Given the description of an element on the screen output the (x, y) to click on. 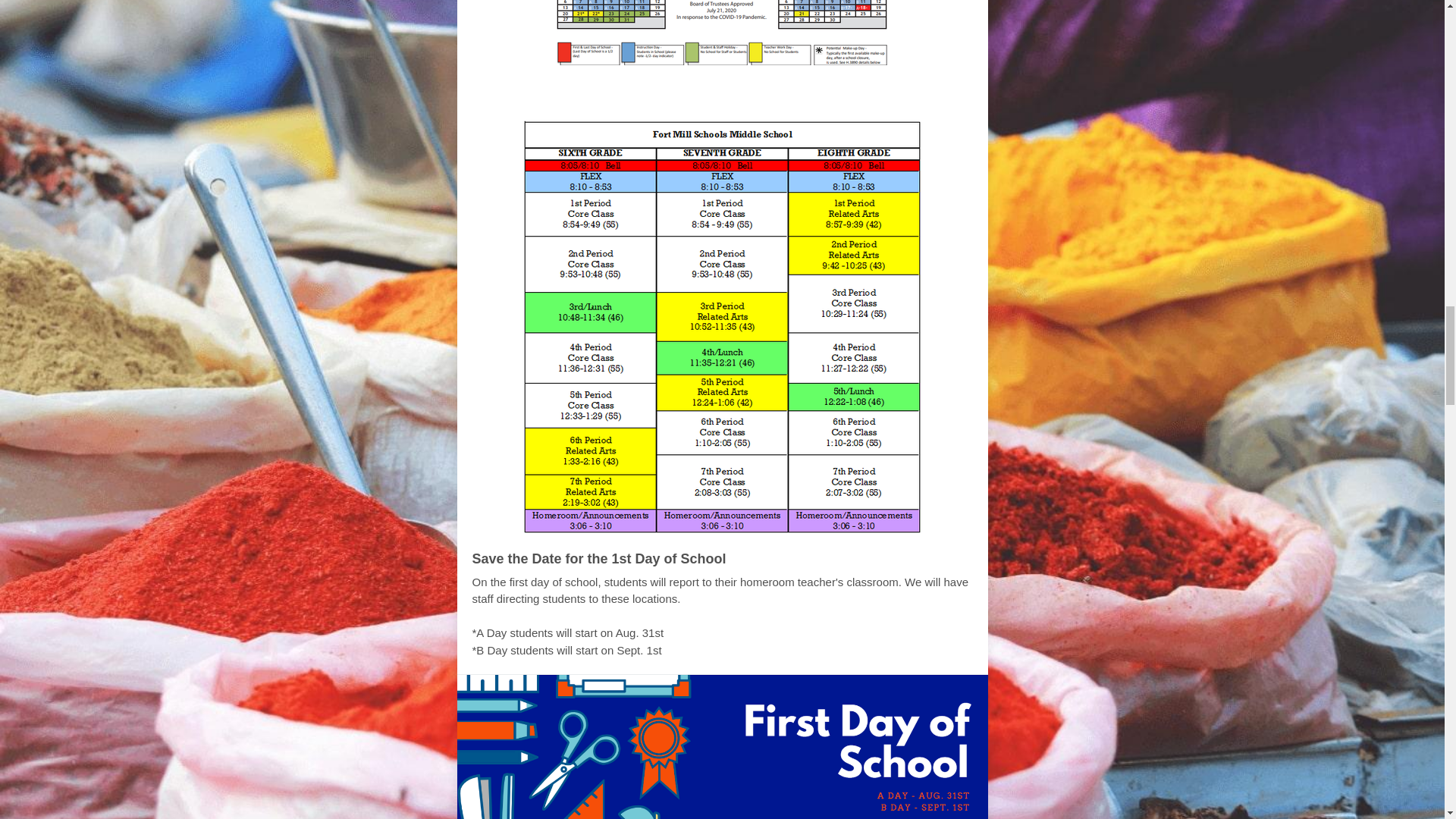
20-21 (655, 92)
Schedule (773, 92)
Bell (706, 92)
